Given the description of an element on the screen output the (x, y) to click on. 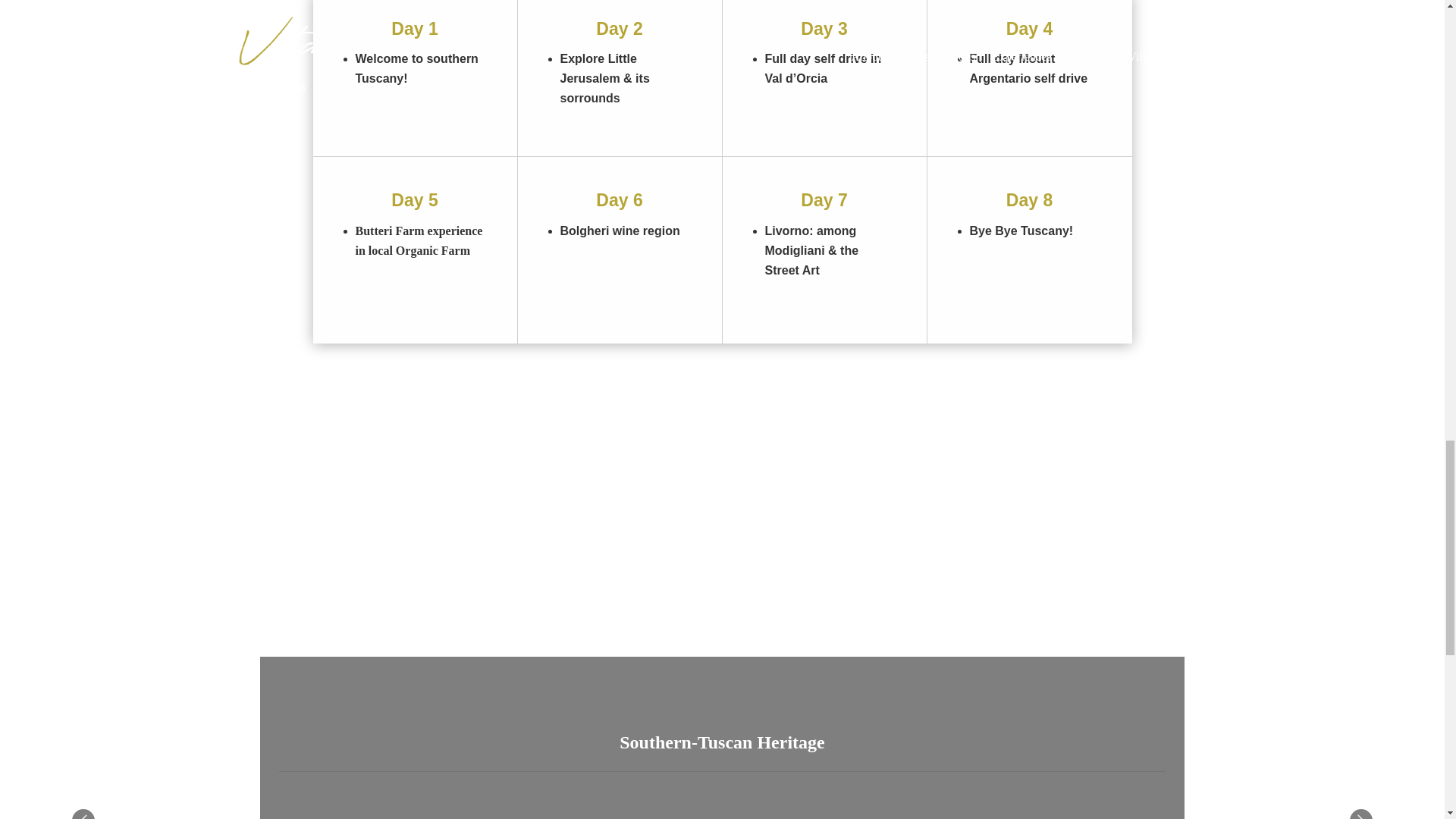
Previous (82, 813)
